Given the description of an element on the screen output the (x, y) to click on. 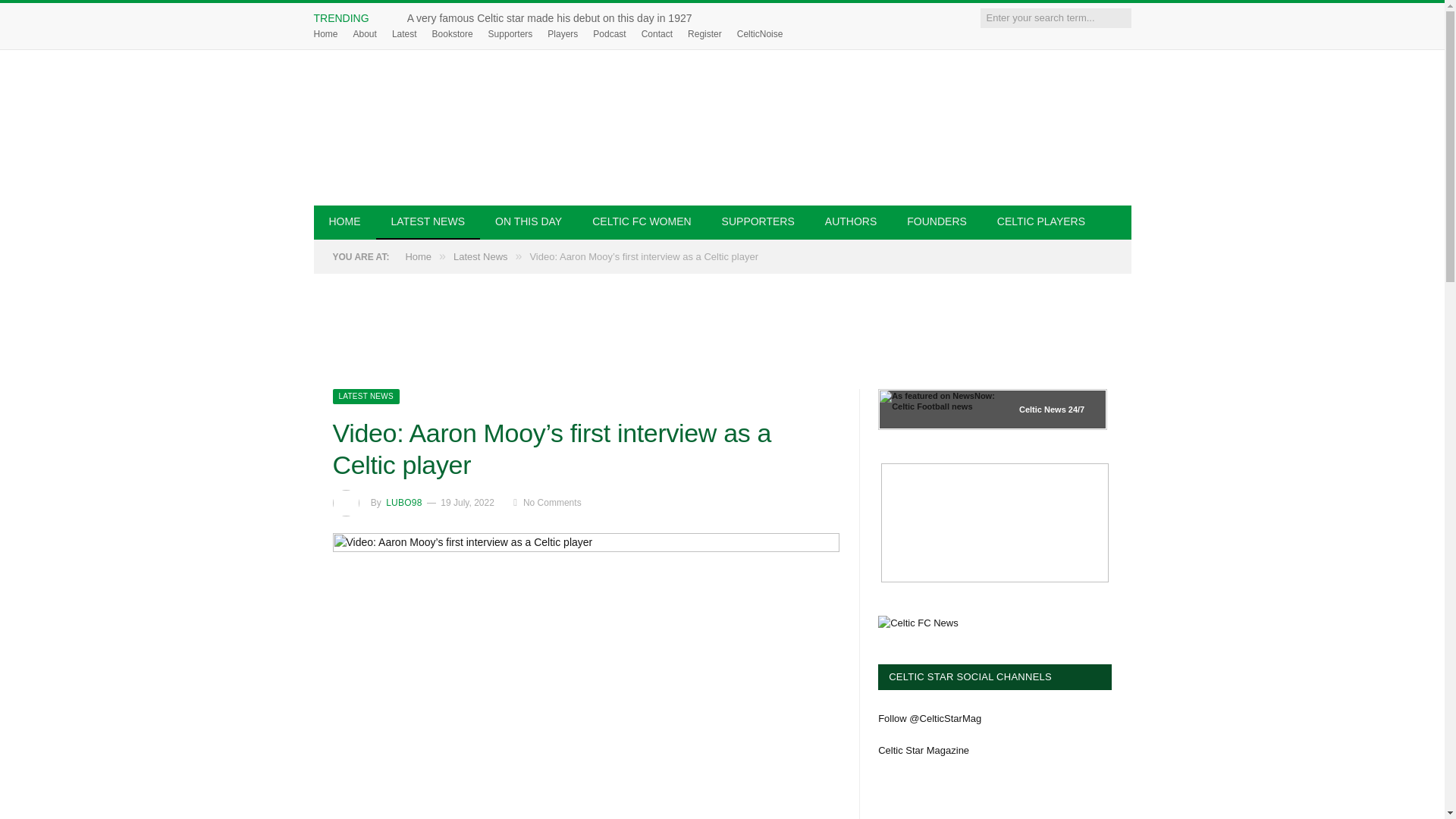
Home (325, 33)
Players (562, 33)
About (365, 33)
LATEST NEWS (427, 222)
Podcast (609, 33)
The Celtic Star (722, 127)
FOUNDERS (936, 222)
Register (704, 33)
ON THIS DAY (528, 222)
Contact (657, 33)
